Given the description of an element on the screen output the (x, y) to click on. 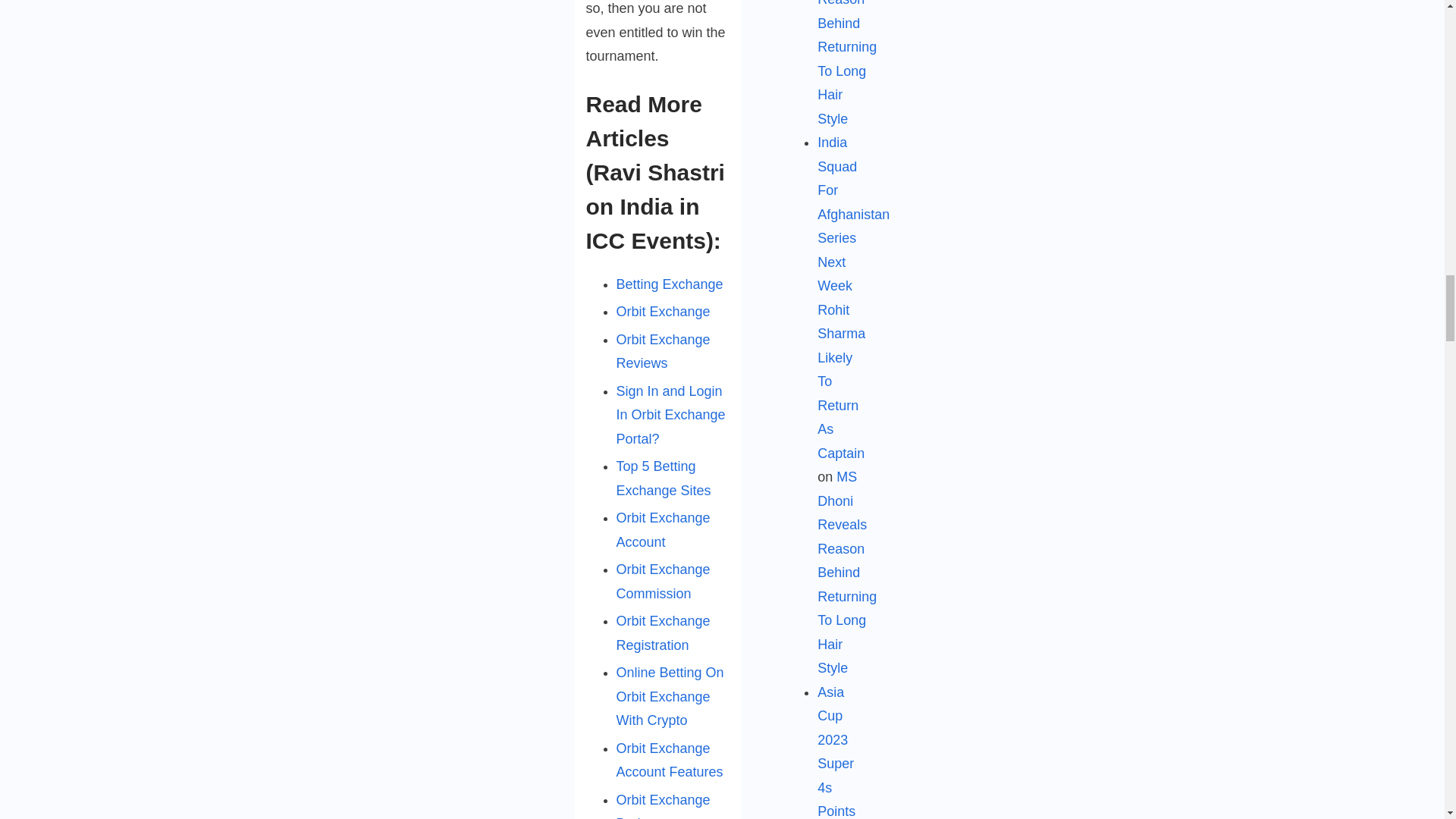
Orbit Exchange Commission (662, 581)
Sign In and Login In Orbit Exchange Portal? (670, 415)
Orbit Exchange Brokers (662, 805)
Online Betting On Orbit Exchange With Crypto (669, 696)
Orbit Exchange Account (662, 529)
Betting Exchange (668, 283)
Orbit Exchange (662, 311)
Orbit Exchange Account Features (668, 760)
Top 5 Betting Exchange Sites (662, 477)
Orbit Exchange Reviews (662, 351)
Orbit Exchange Registration (662, 632)
